Given the description of an element on the screen output the (x, y) to click on. 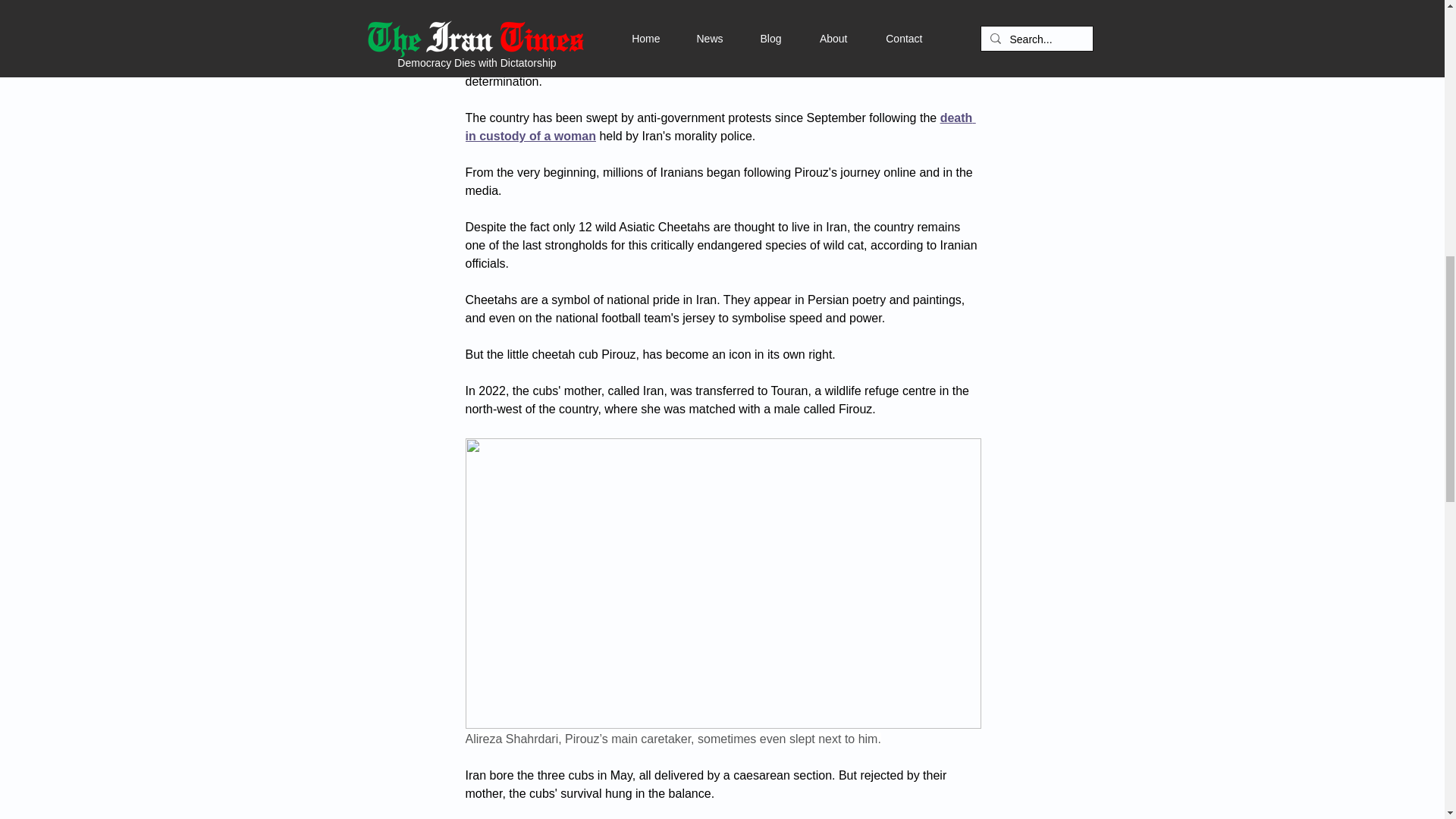
death in custody of a woman (720, 126)
